Given the description of an element on the screen output the (x, y) to click on. 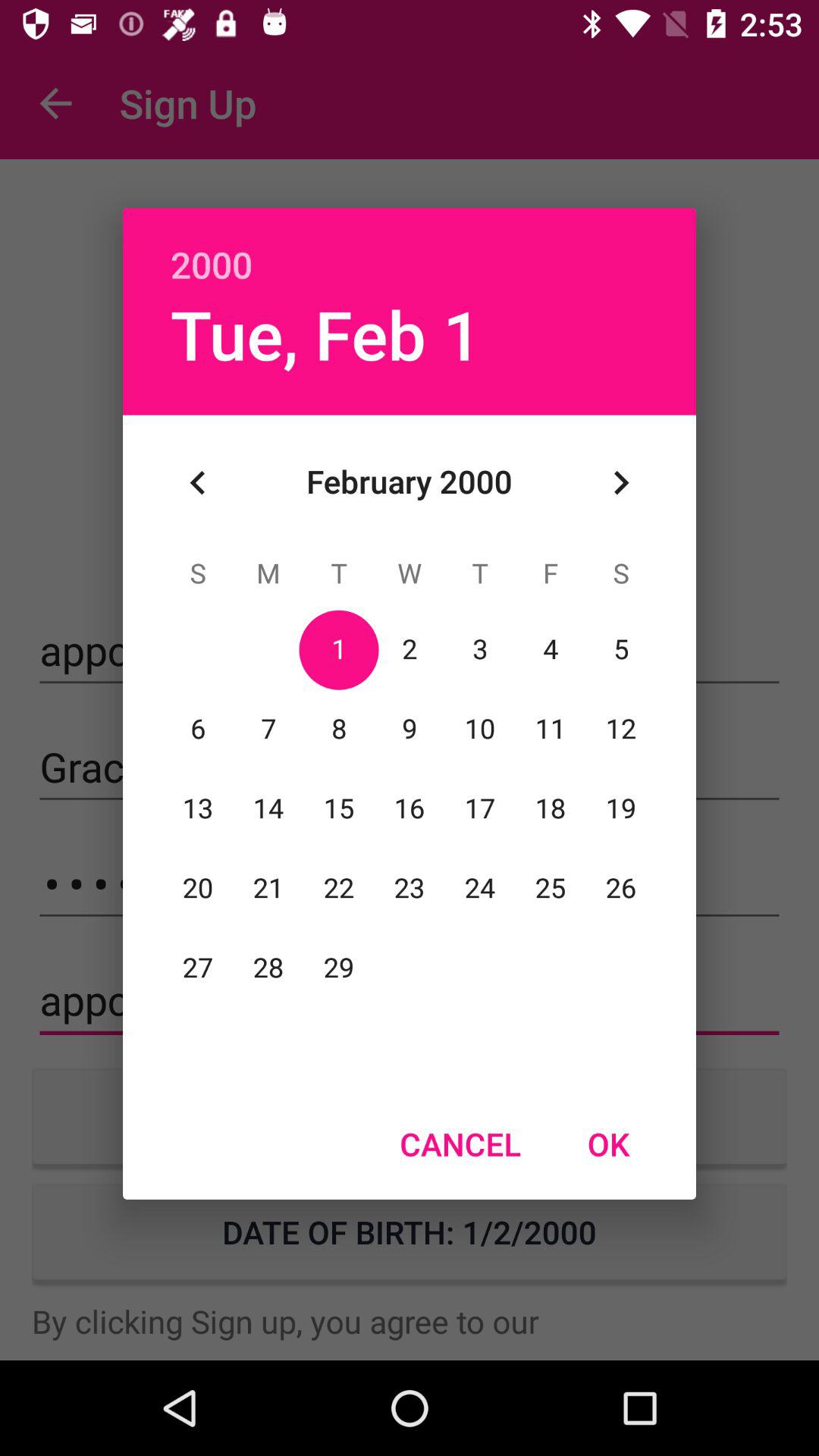
launch the item below the 2000 icon (620, 482)
